Given the description of an element on the screen output the (x, y) to click on. 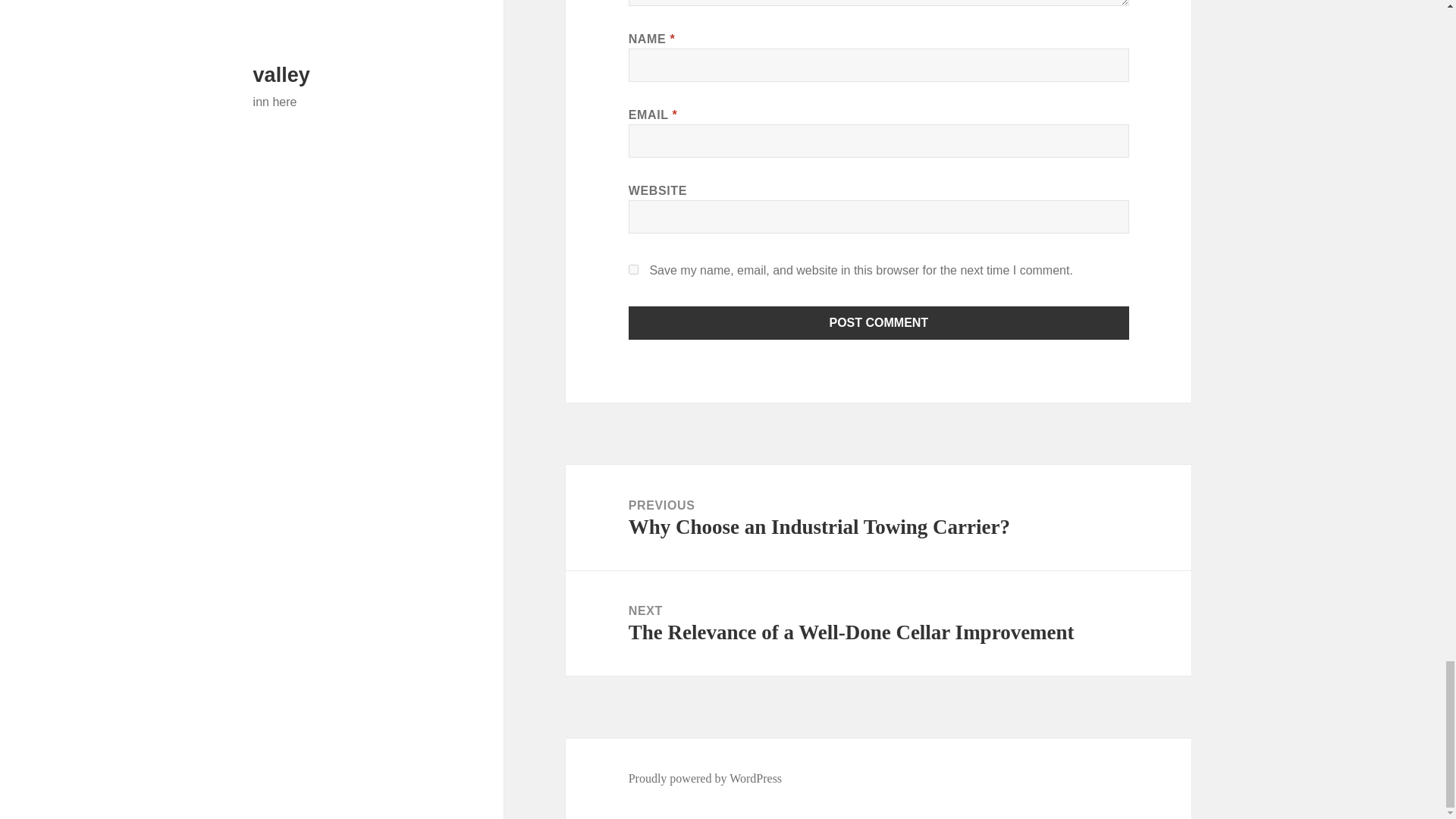
Post Comment (878, 322)
Proudly powered by WordPress (704, 778)
yes (633, 269)
Post Comment (878, 322)
